Given the description of an element on the screen output the (x, y) to click on. 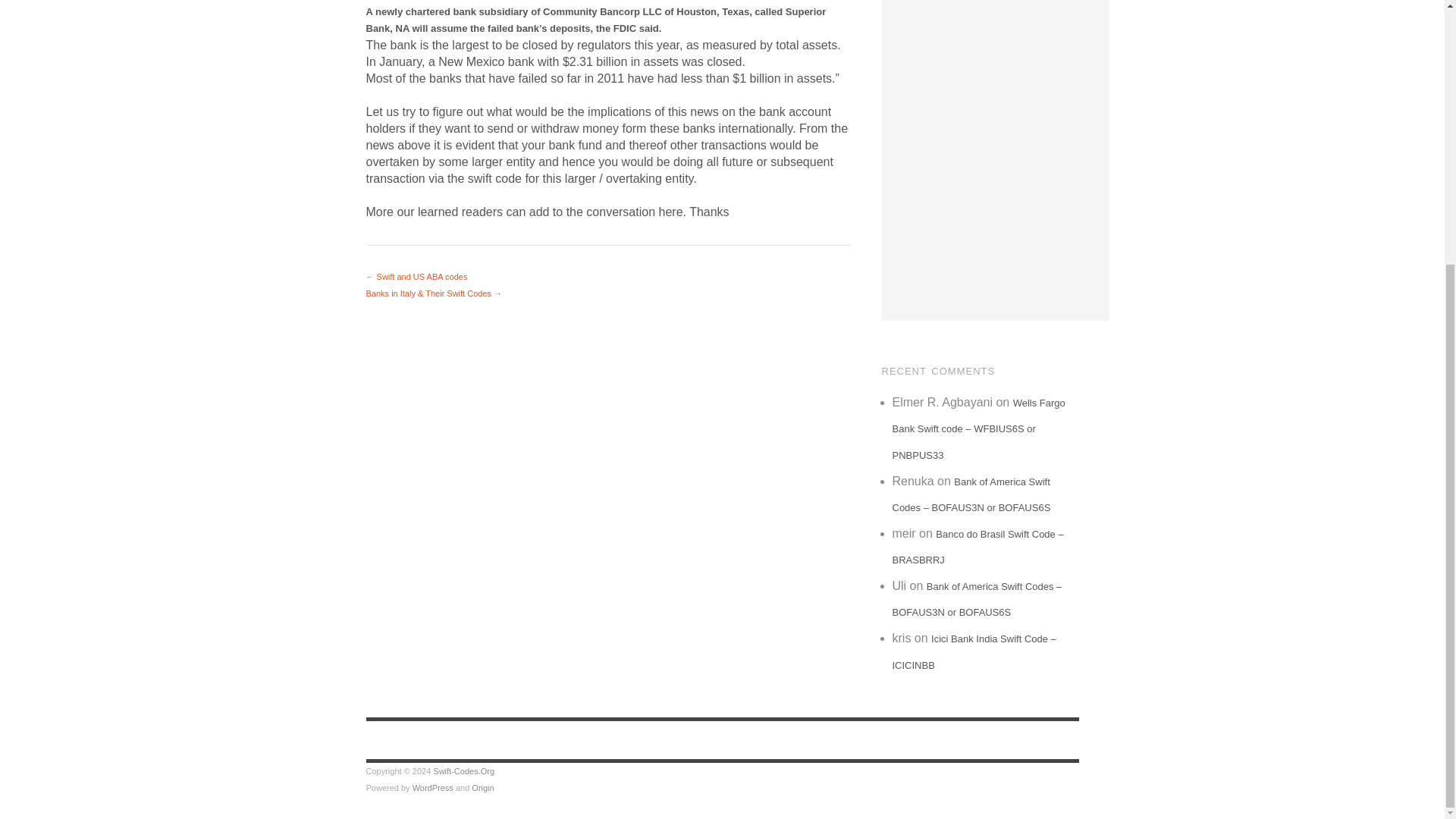
Origin (482, 787)
Swift and US ABA codes (422, 276)
WordPress (432, 787)
Swift-Codes.Org (463, 770)
